Given the description of an element on the screen output the (x, y) to click on. 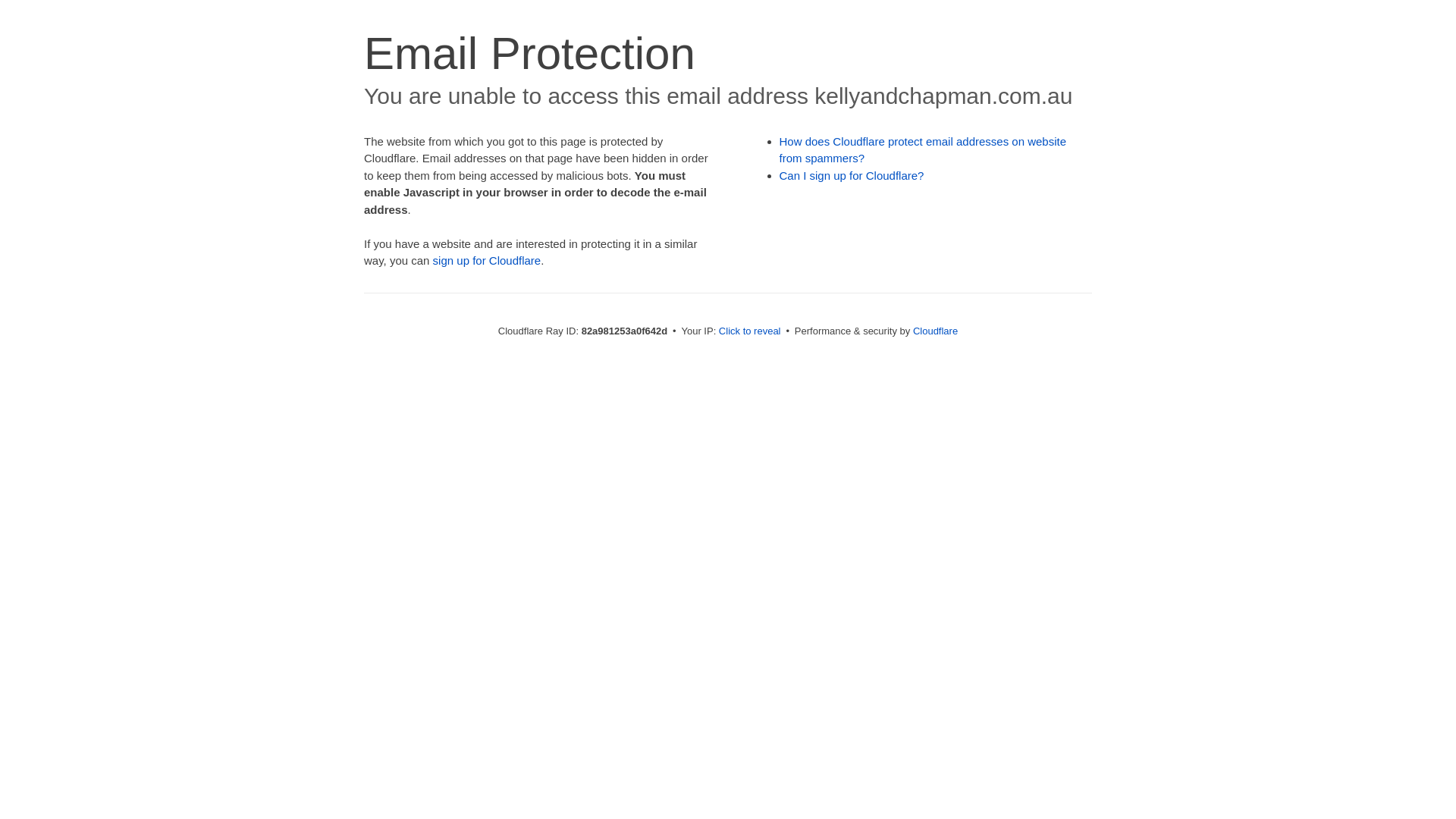
Can I sign up for Cloudflare? Element type: text (851, 175)
Cloudflare Element type: text (935, 330)
sign up for Cloudflare Element type: text (487, 260)
Click to reveal Element type: text (749, 330)
